Given the description of an element on the screen output the (x, y) to click on. 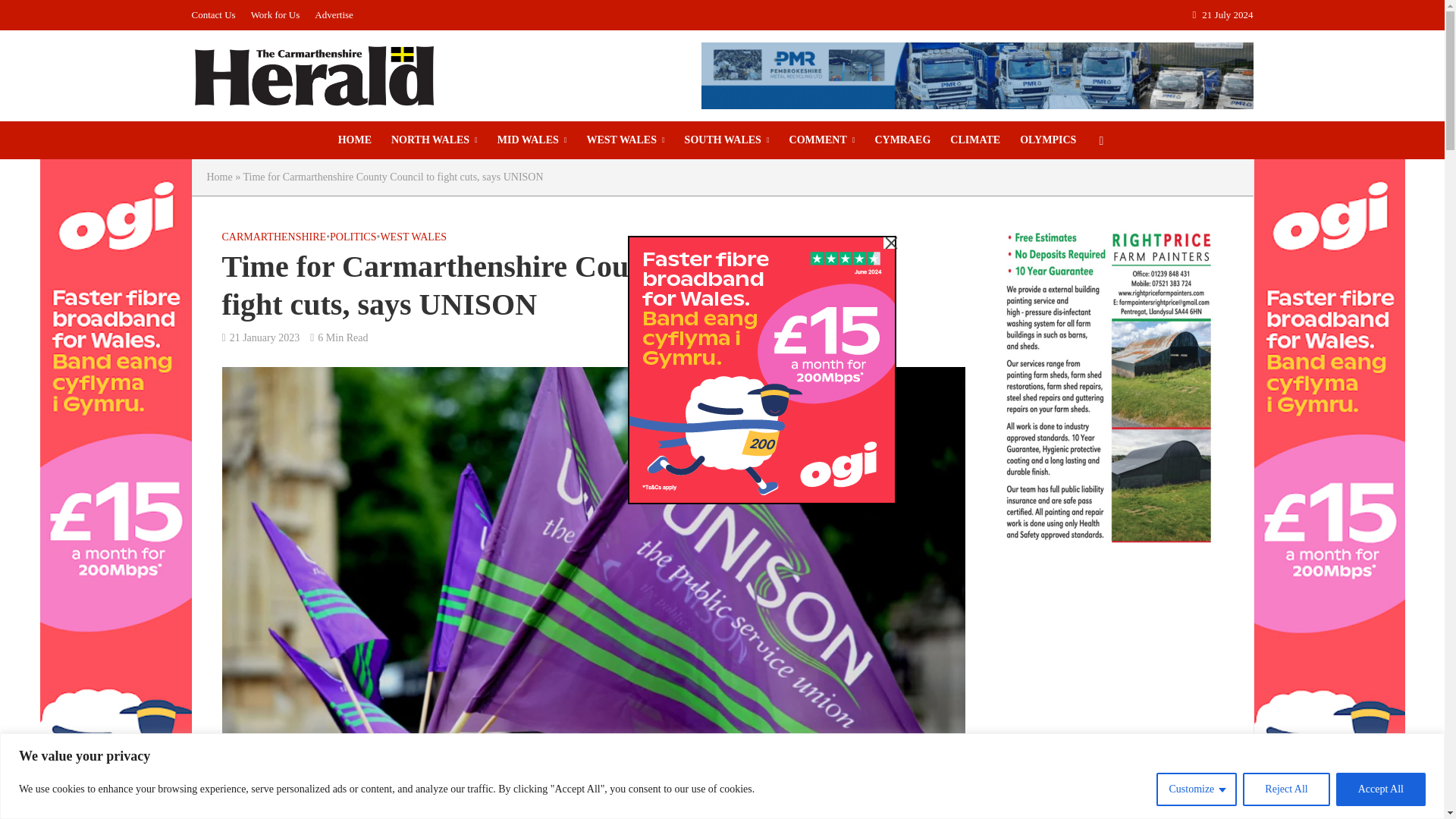
Advertisement (1108, 697)
WEST WALES (625, 139)
Advertise (334, 15)
Customize (1196, 788)
MID WALES (531, 139)
Reject All (1286, 788)
NORTH WALES (434, 139)
Accept All (1380, 788)
SOUTH WALES (726, 139)
Work for Us (275, 15)
HOME (355, 139)
Contact Us (216, 15)
